Given the description of an element on the screen output the (x, y) to click on. 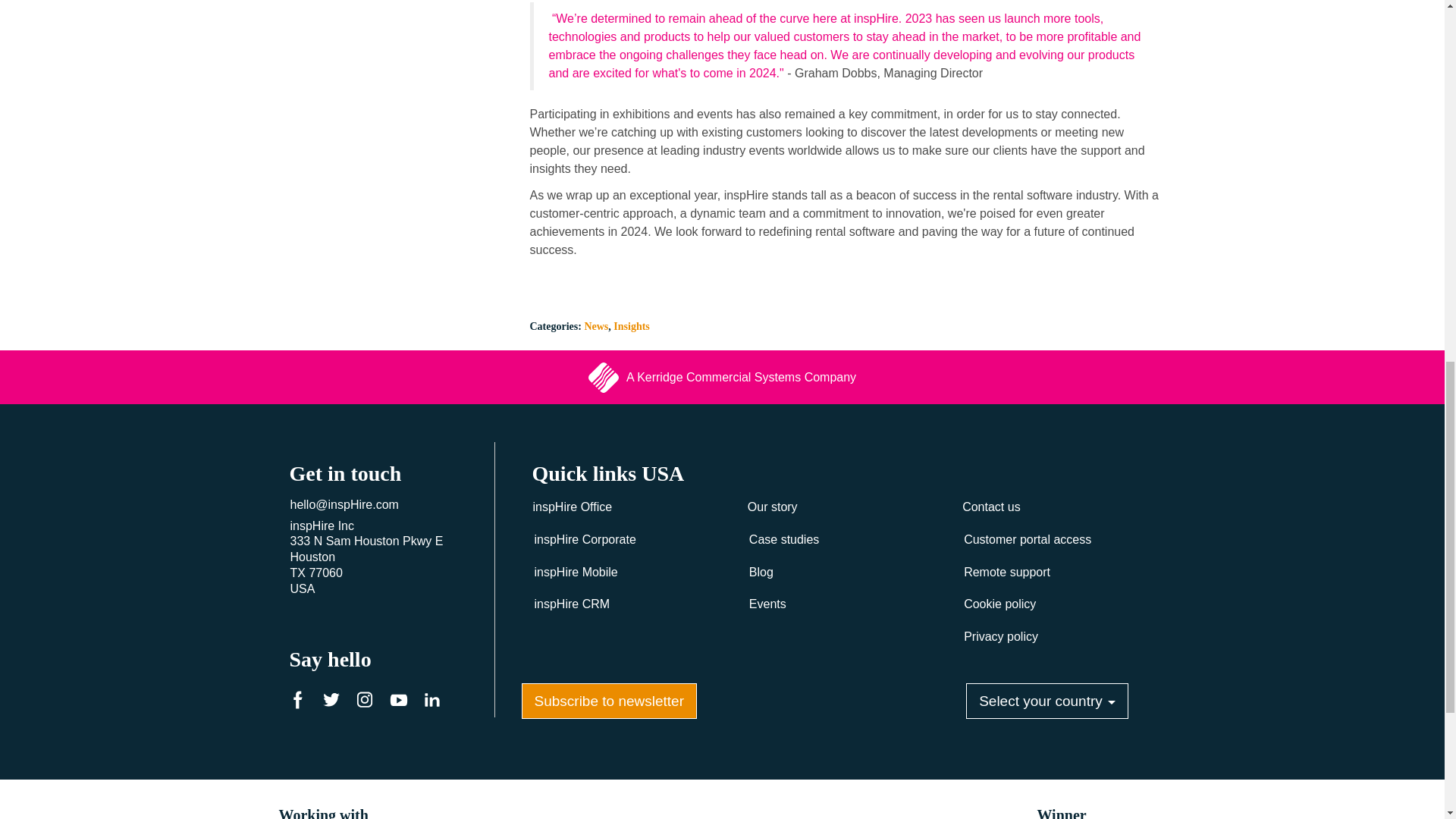
Like Our Facebook Page (301, 702)
Follow Us on Linkedin (435, 702)
Follow Us on Instagram (368, 702)
Watch Our Youtube Videos (402, 702)
Follow Us on Twitter (335, 702)
Insights (630, 326)
News (595, 326)
A Kerridge Commercial Systems Company (722, 377)
